Given the description of an element on the screen output the (x, y) to click on. 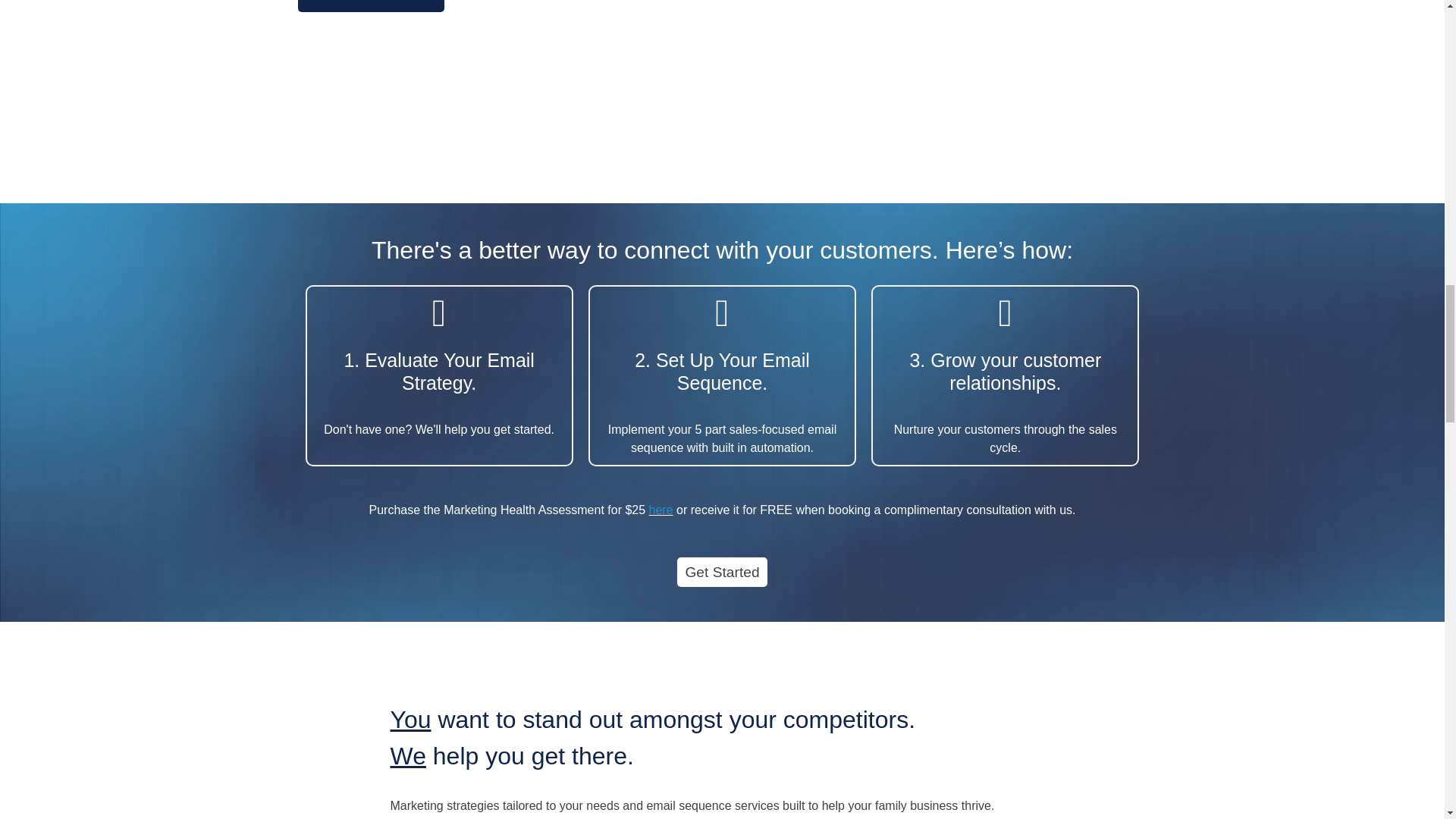
1. Evaluate Your Email Strategy. (438, 371)
2. Set Up Your Email Sequence. (721, 371)
Get in Touch (370, 6)
